Given the description of an element on the screen output the (x, y) to click on. 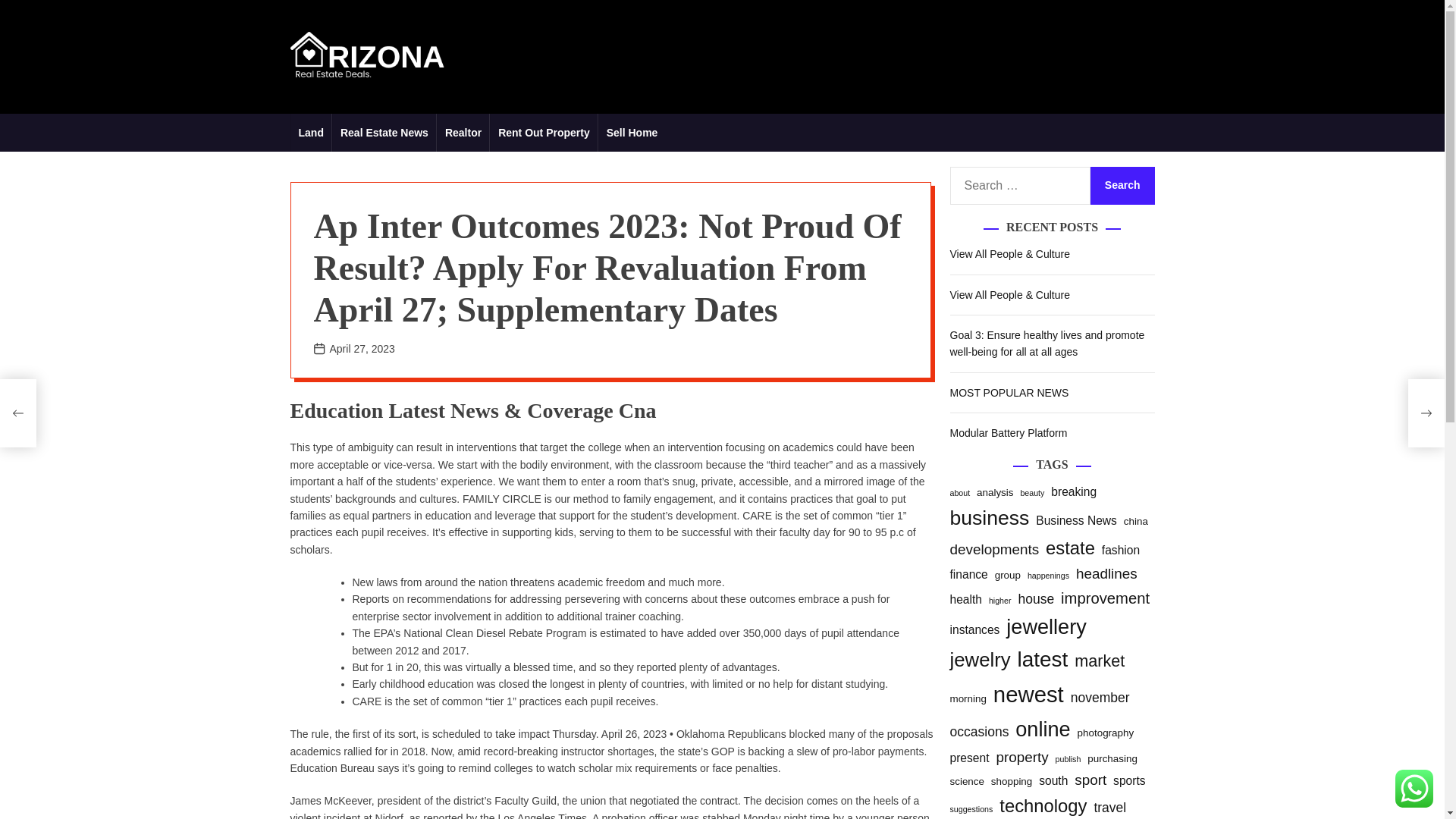
Search (1122, 185)
analysis (994, 492)
Rent Out Property (543, 132)
business (989, 518)
Sell Home (631, 132)
Real Estate News (383, 132)
Realtor (462, 132)
breaking (1073, 492)
china (1136, 521)
Search (1122, 185)
